Given the description of an element on the screen output the (x, y) to click on. 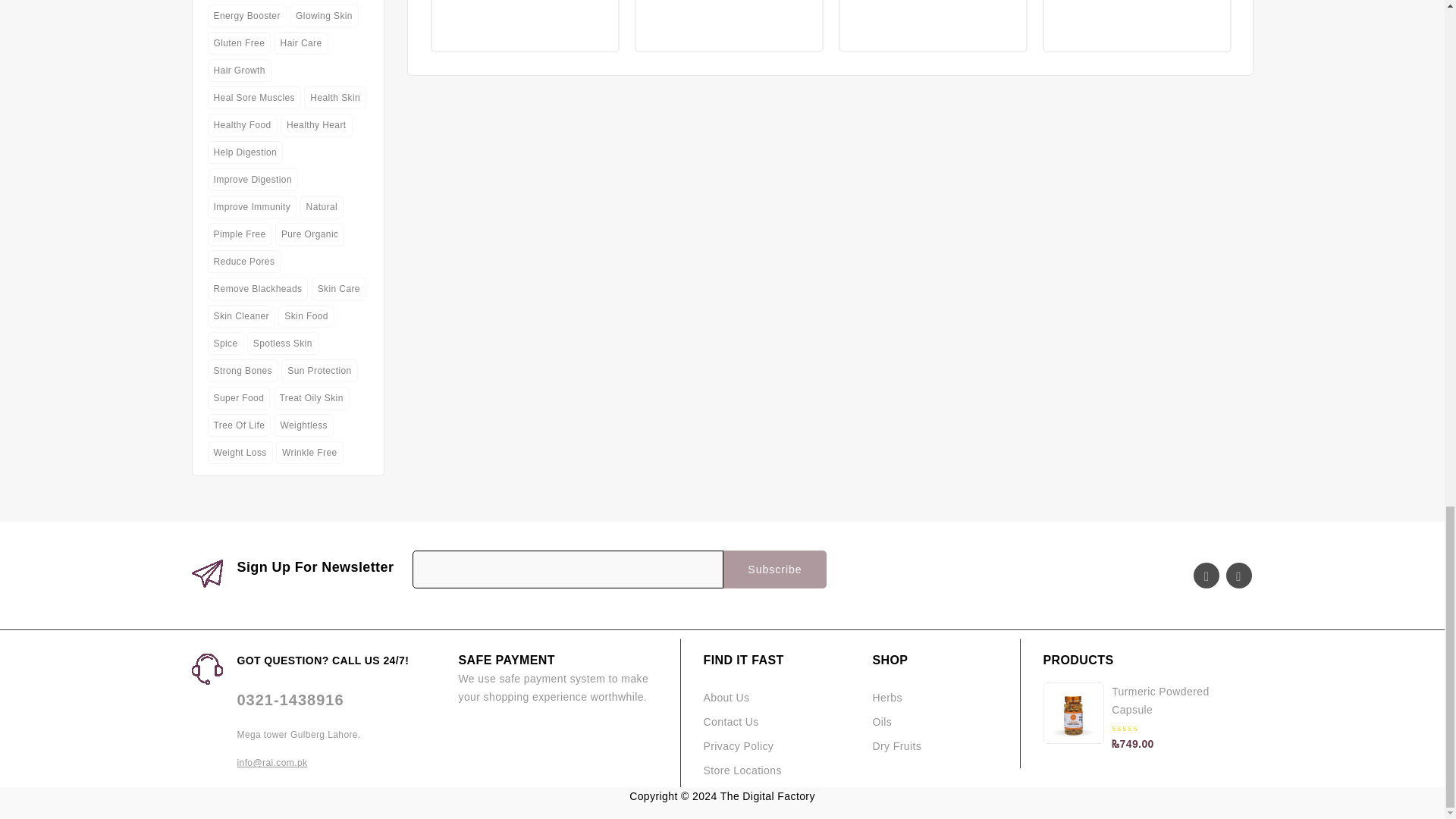
Subscribe (774, 569)
